Given the description of an element on the screen output the (x, y) to click on. 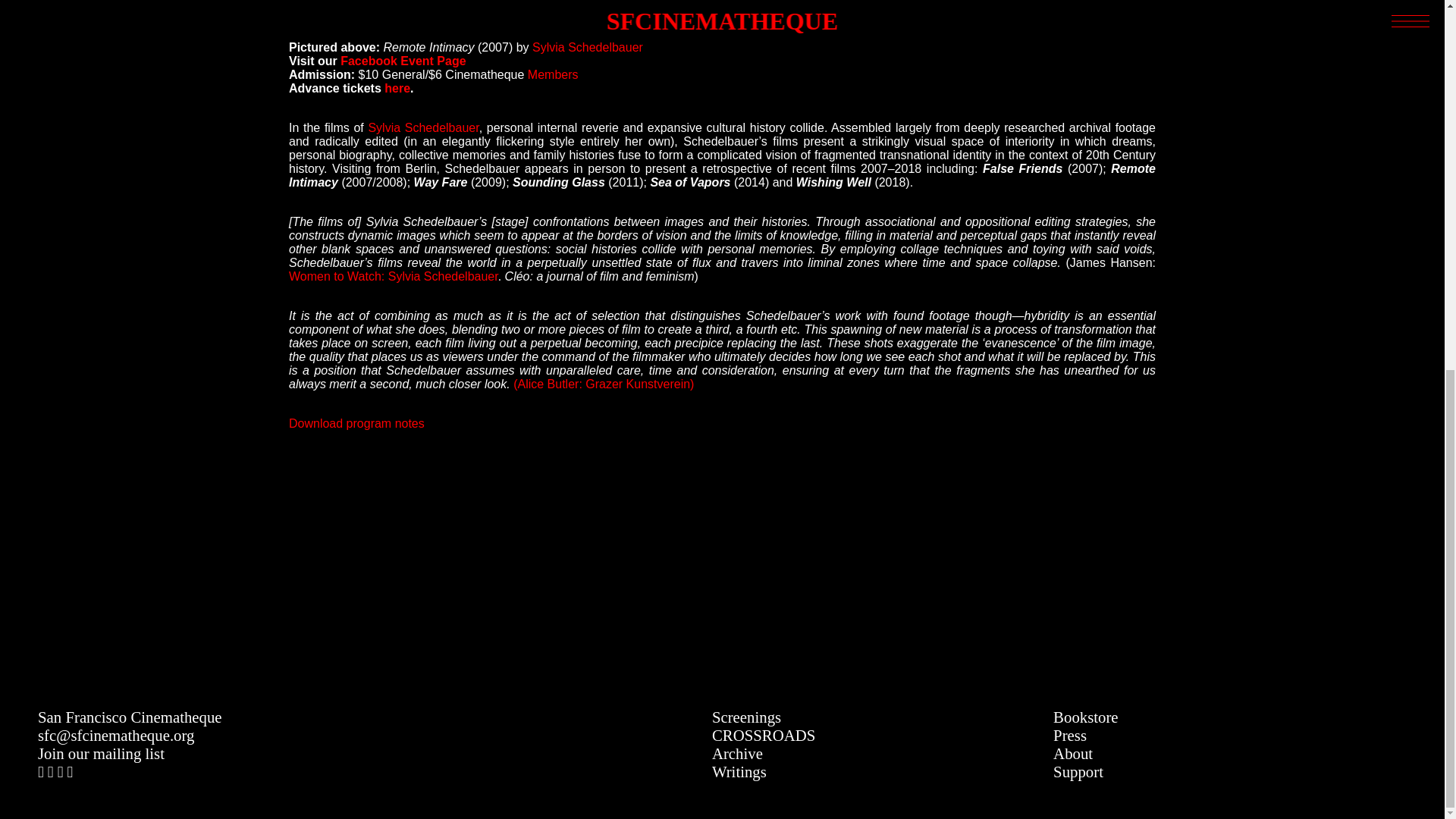
Join our mailing list (100, 753)
Sylvia Schedelbauer (423, 127)
Support (1077, 771)
Women to Watch: Sylvia Schedelbauer (392, 276)
Writings (739, 771)
Screenings (745, 716)
here (397, 88)
Archive (736, 753)
Download program notes (356, 422)
About (1072, 753)
CROSSROADS (763, 734)
Press (1069, 734)
Bookstore (1085, 716)
San Francisco Cinematheque (129, 716)
